Given the description of an element on the screen output the (x, y) to click on. 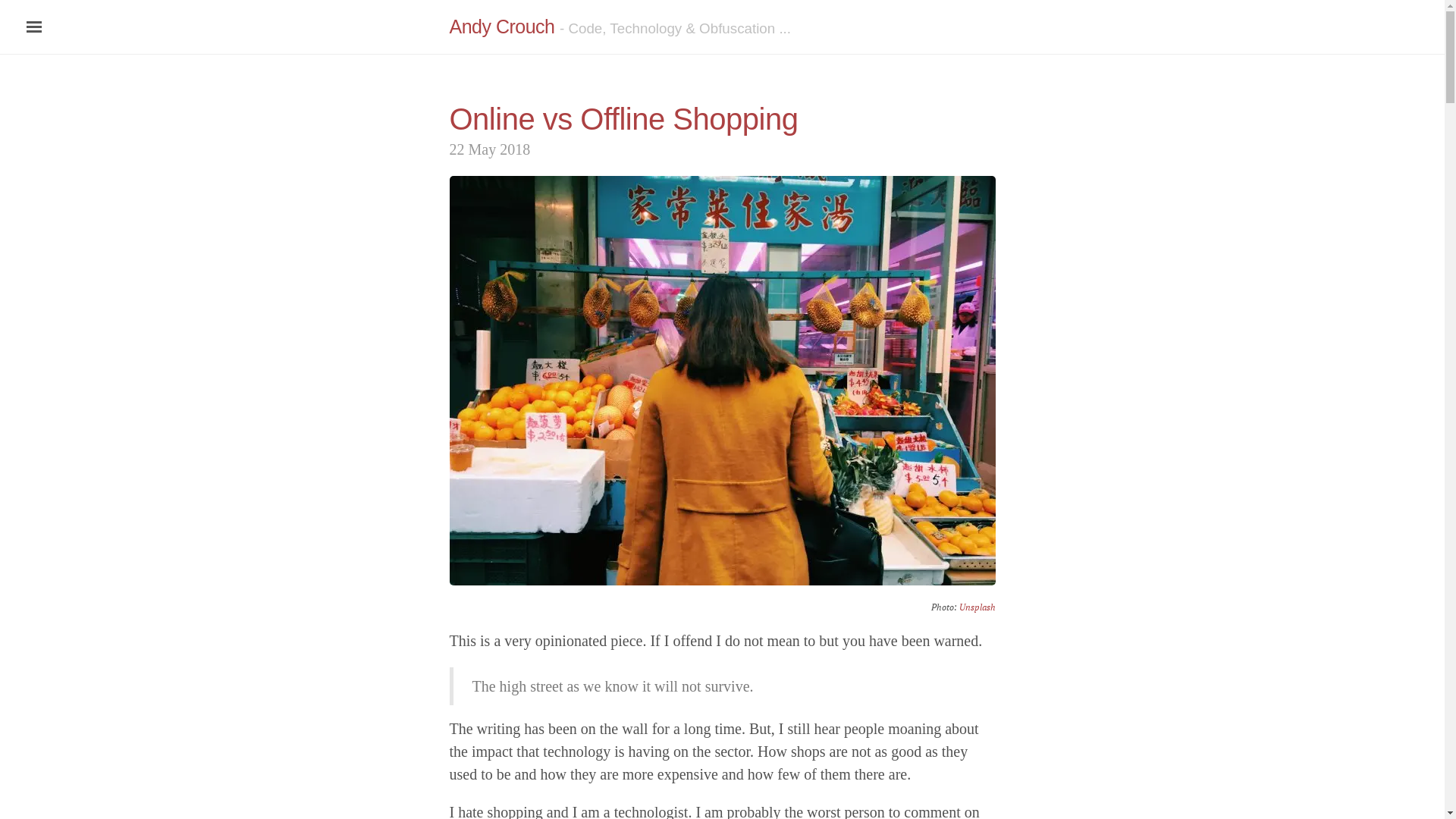
Andy Crouch Element type: text (501, 26)
Online vs Offline Shopping Element type: text (622, 118)
Unsplash Element type: text (976, 606)
